Given the description of an element on the screen output the (x, y) to click on. 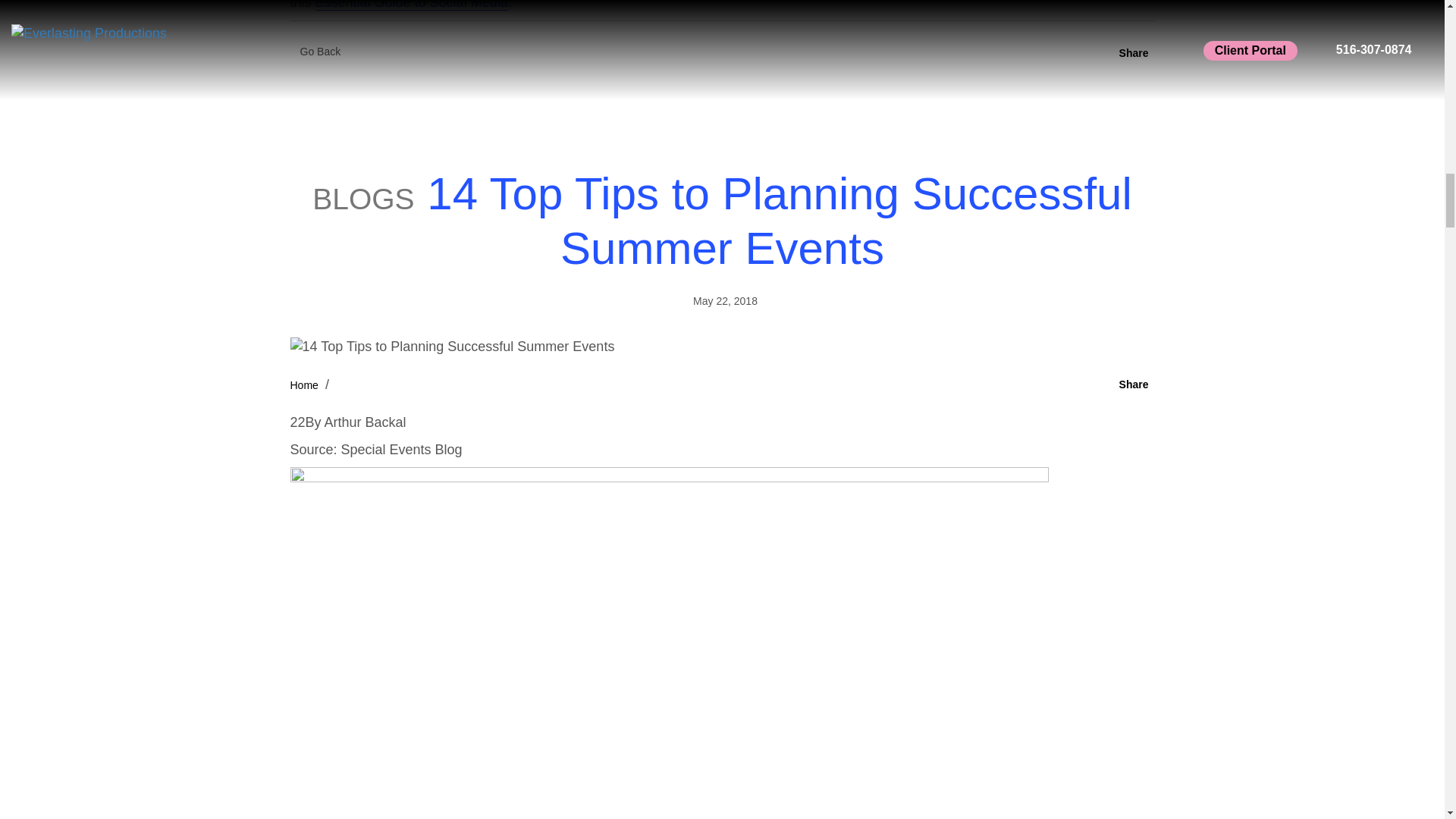
Essential Guide to Social Media (411, 4)
Home (303, 385)
Go Back (319, 52)
